Given the description of an element on the screen output the (x, y) to click on. 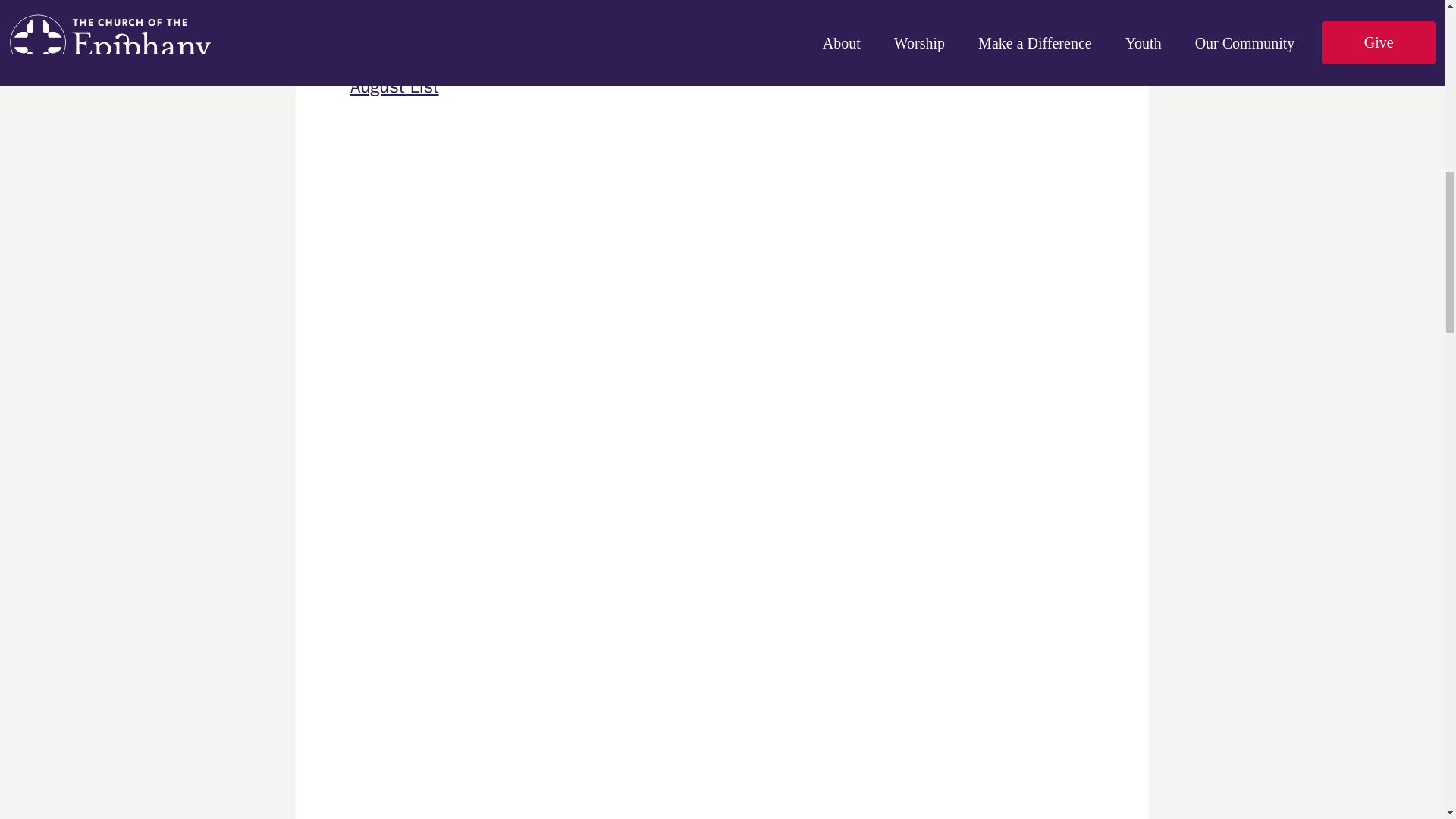
August List (394, 86)
